Given the description of an element on the screen output the (x, y) to click on. 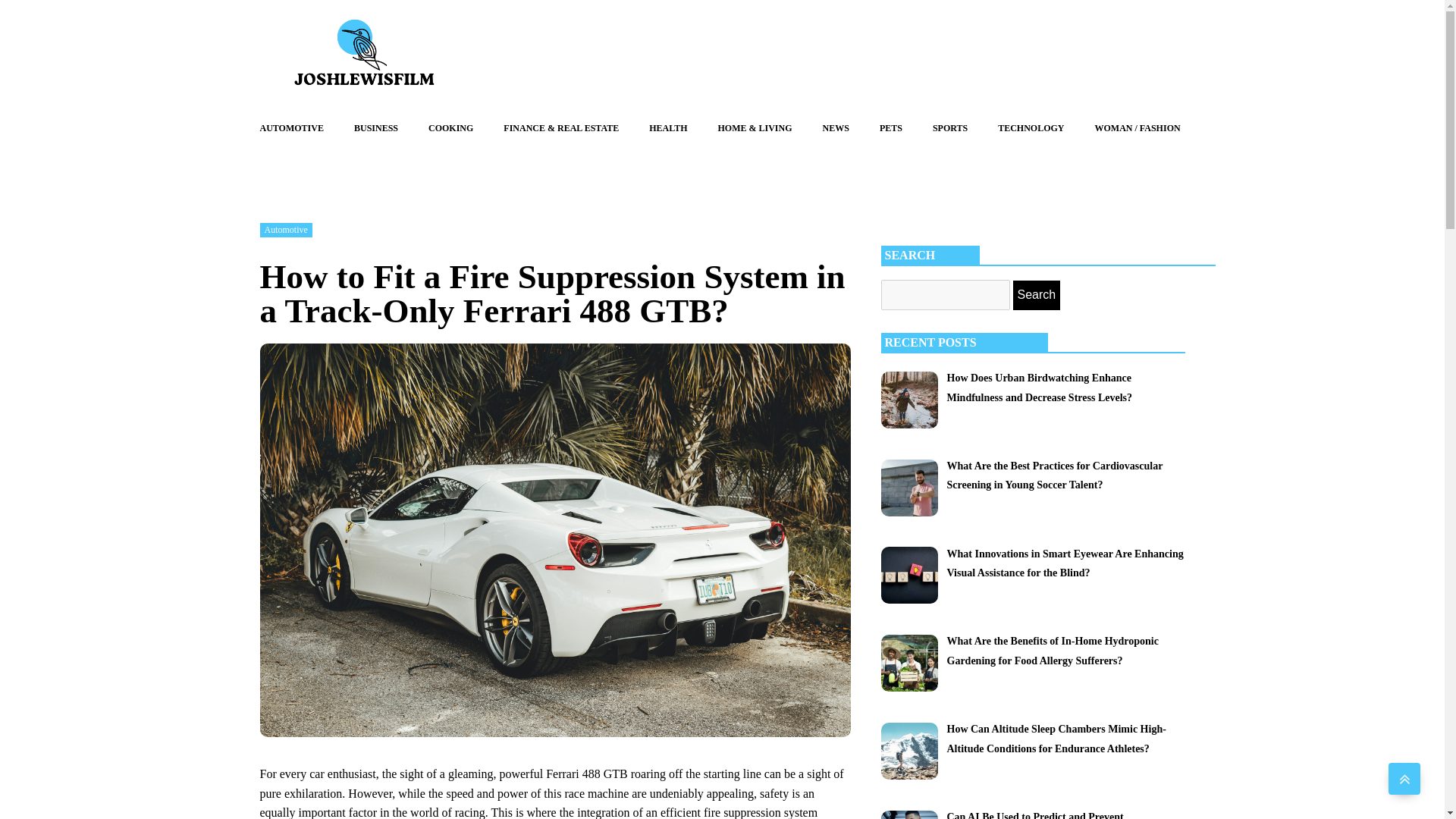
NEWS (836, 128)
SPORTS (949, 128)
COOKING (450, 128)
HEALTH (667, 128)
BUSINESS (376, 128)
PETS (890, 128)
TECHNOLOGY (1030, 128)
Search (1037, 294)
AUTOMOTIVE (290, 128)
Search (1037, 294)
